Given the description of an element on the screen output the (x, y) to click on. 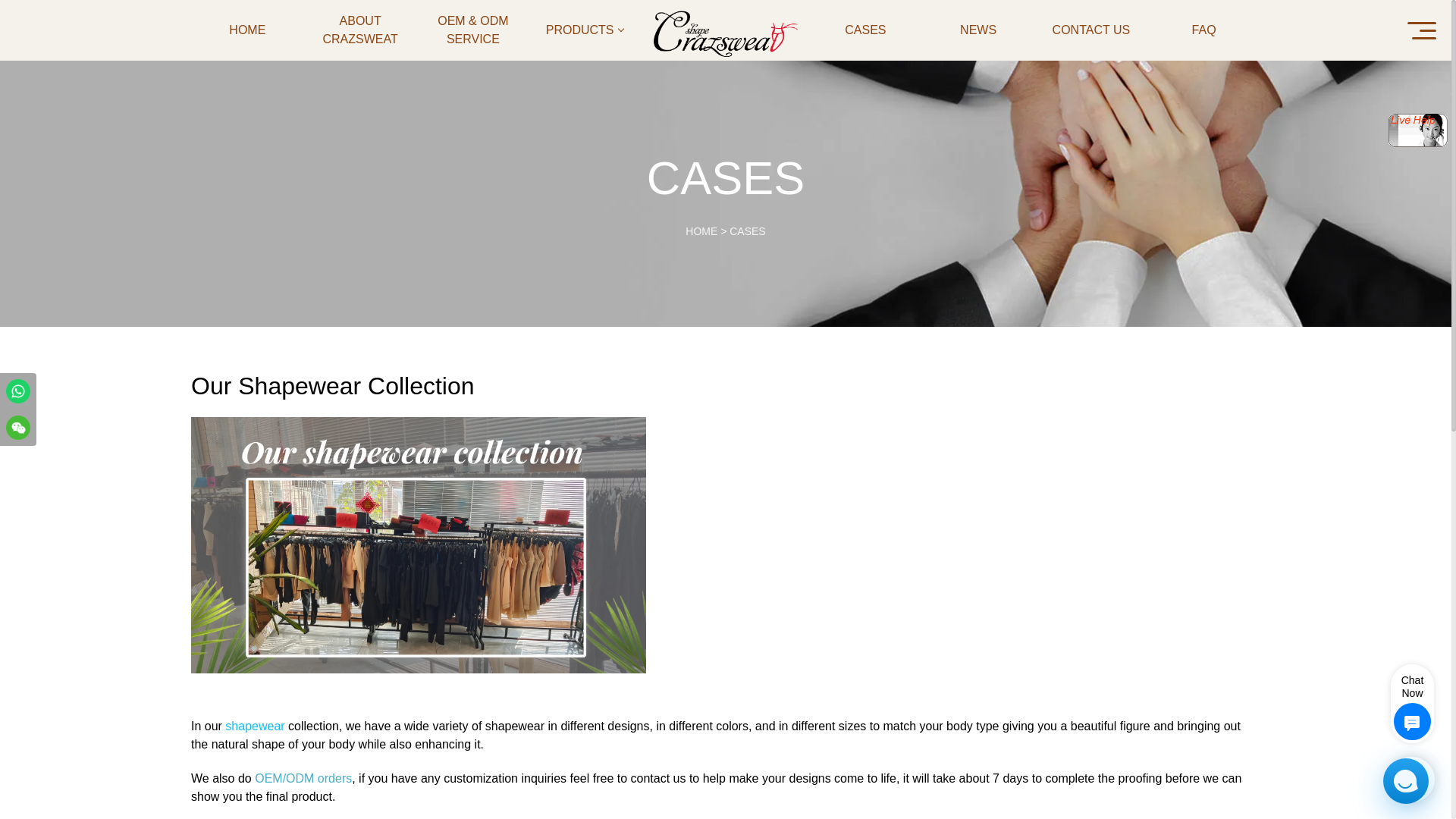
NEWS (978, 30)
CONTACT US (1090, 30)
HOME (247, 30)
CASES (747, 231)
FAQ (1203, 30)
CASES (865, 30)
HOME (701, 231)
PRODUCTS (585, 30)
ABOUT CRAZSWEAT (359, 30)
shapewear (254, 725)
